Given the description of an element on the screen output the (x, y) to click on. 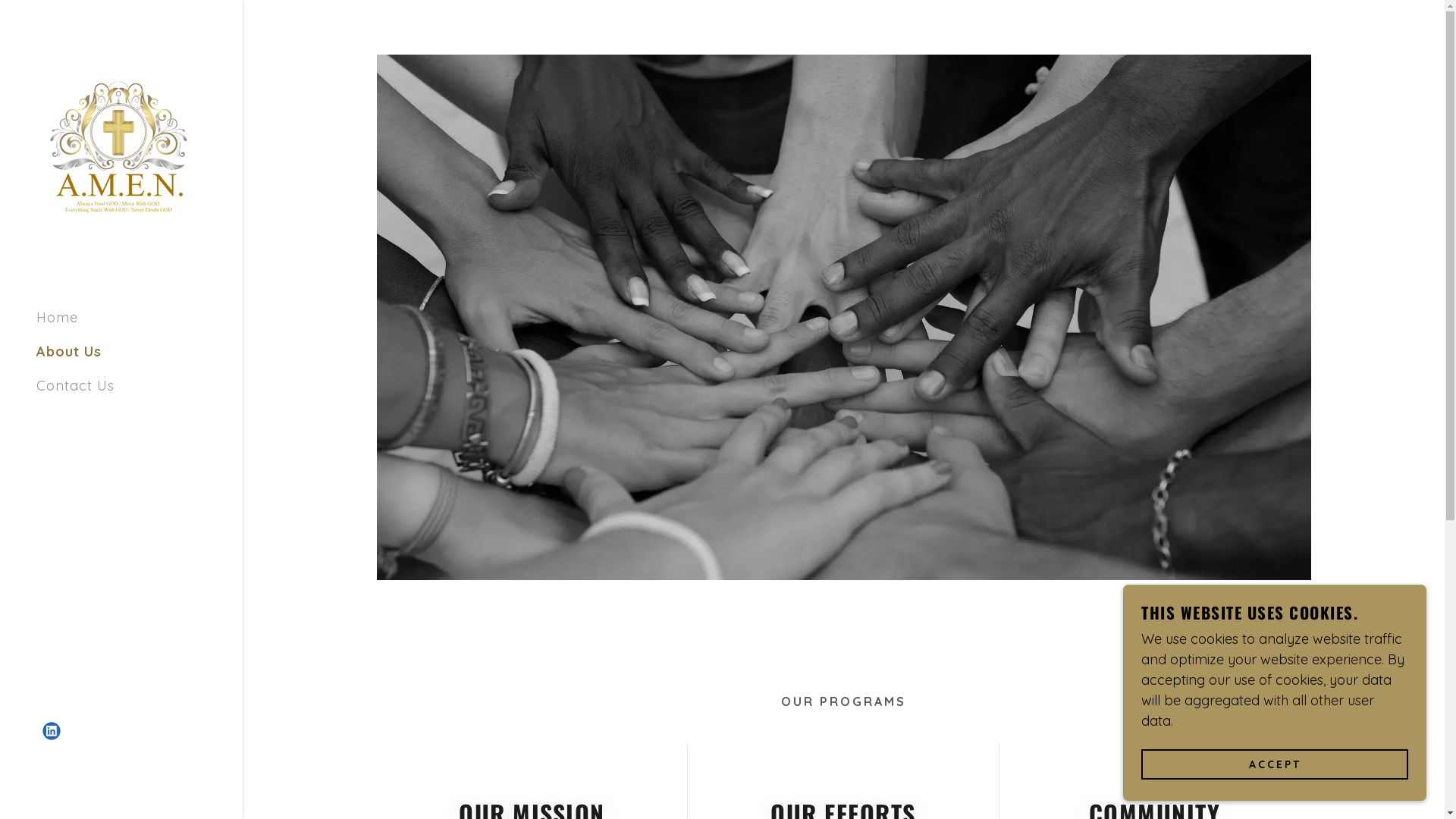
ACCEPT Element type: text (1274, 764)
A.M.E.N. Foundation Element type: hover (118, 147)
About Us Element type: text (68, 351)
Home Element type: text (57, 317)
Contact Us Element type: text (75, 385)
